Given the description of an element on the screen output the (x, y) to click on. 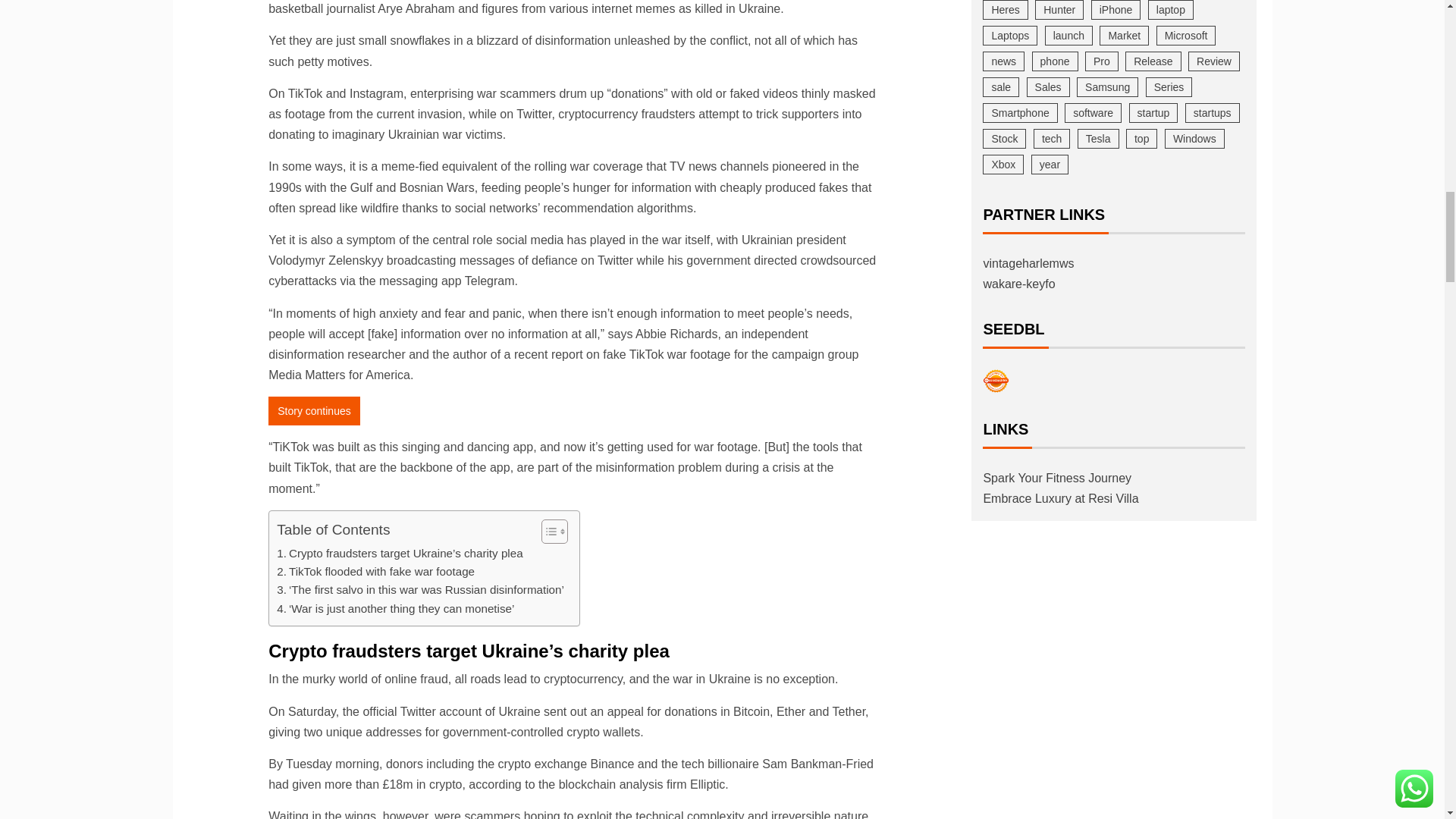
TikTok flooded with fake war footage (375, 571)
Story continues (313, 410)
TikTok flooded with fake war footage (375, 571)
